Given the description of an element on the screen output the (x, y) to click on. 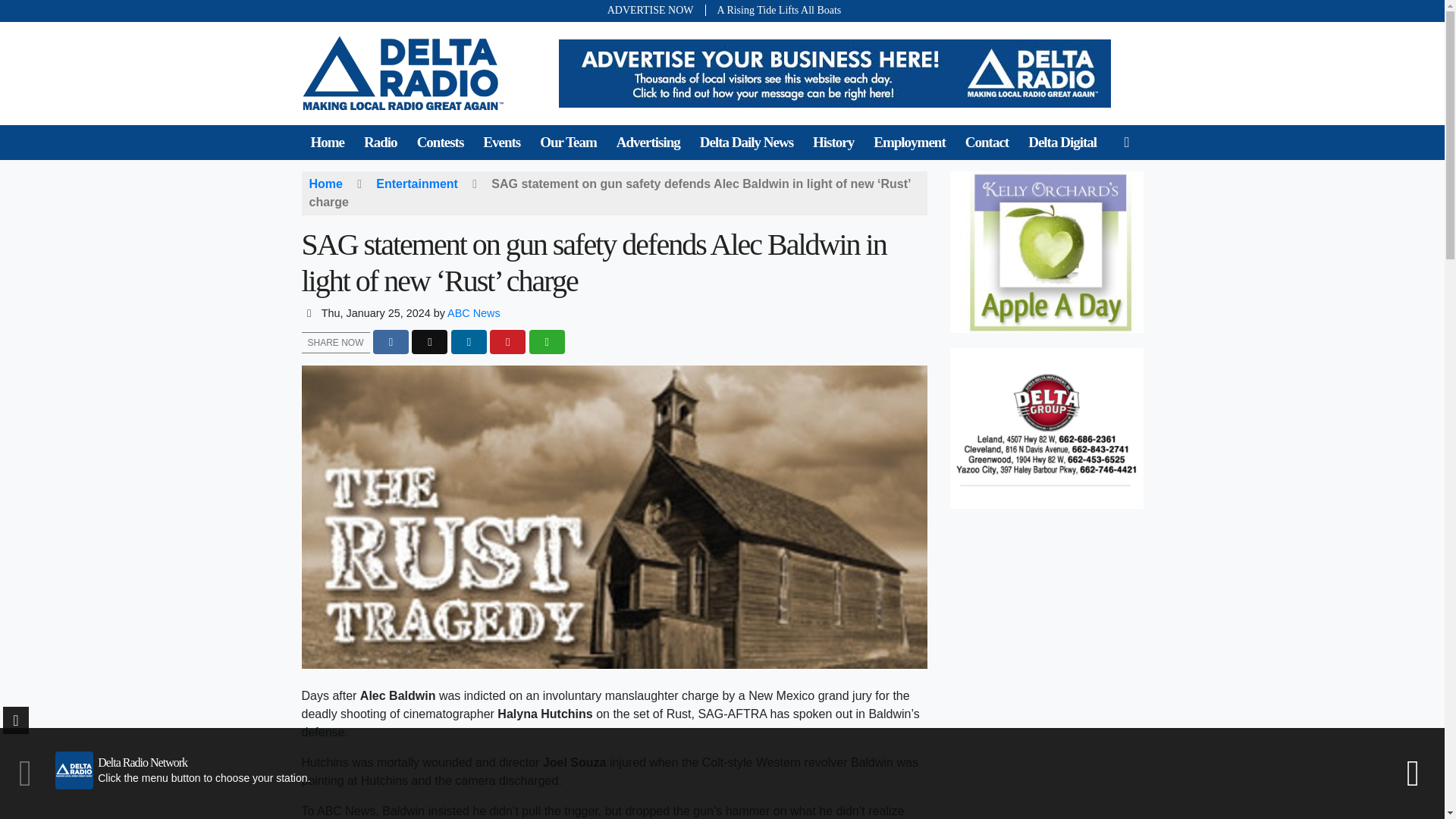
Share via E-Mail (546, 342)
Share to Facebook (390, 342)
Share to X (429, 342)
Share to LinkedIn (468, 342)
Posts by ABC News (473, 313)
Share to Pinterest (507, 342)
